Given the description of an element on the screen output the (x, y) to click on. 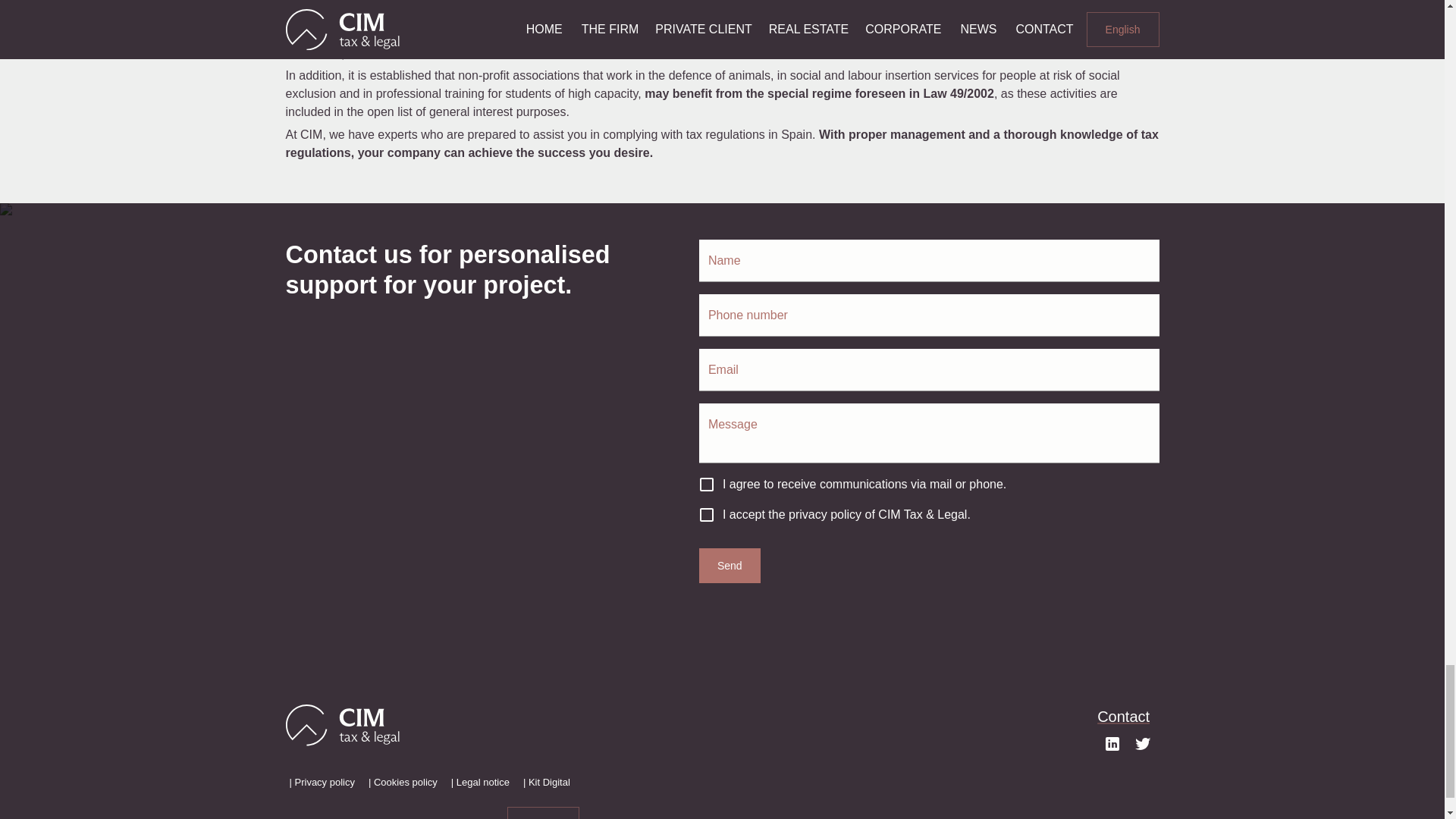
Send (729, 565)
Contact (1123, 716)
